Given the description of an element on the screen output the (x, y) to click on. 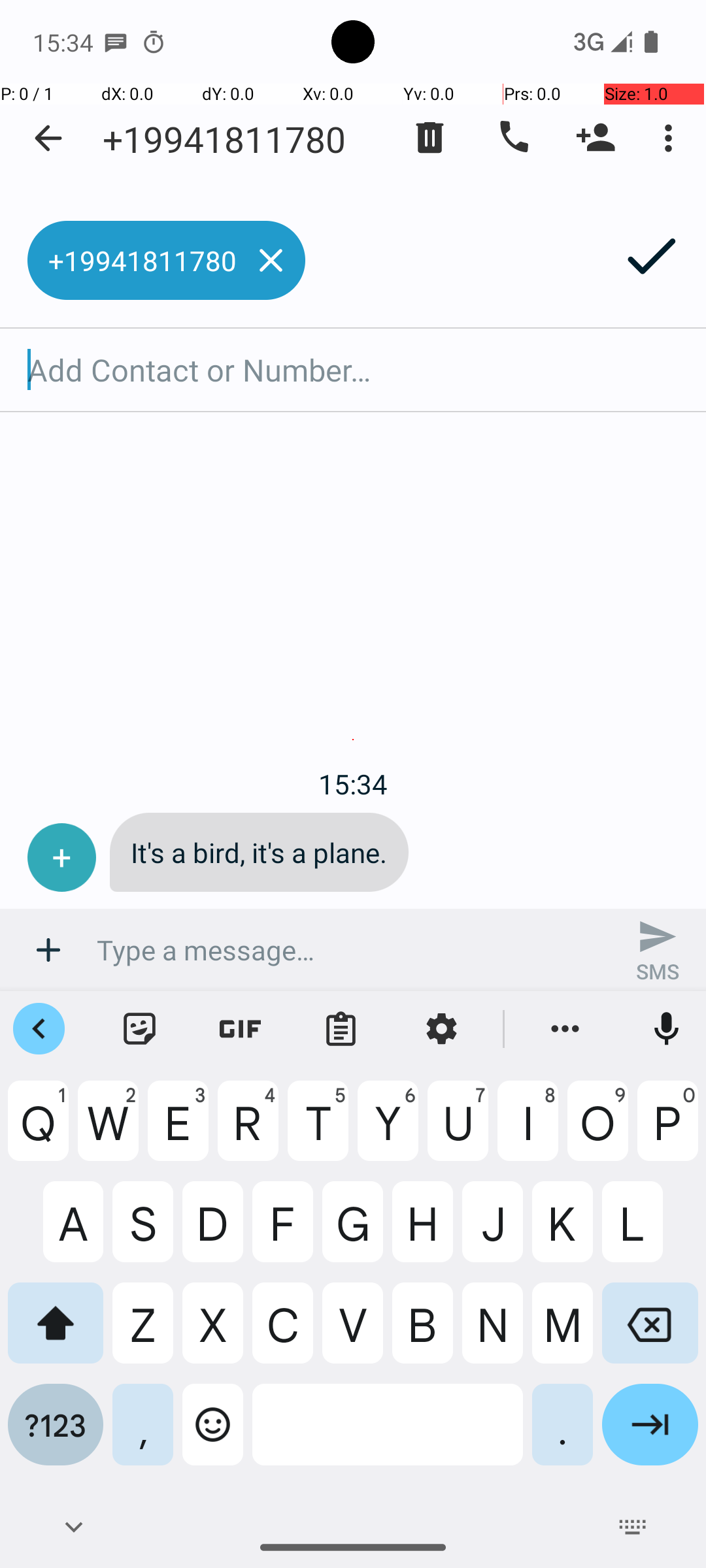
+19941811780 Element type: android.widget.TextView (223, 138)
